Given the description of an element on the screen output the (x, y) to click on. 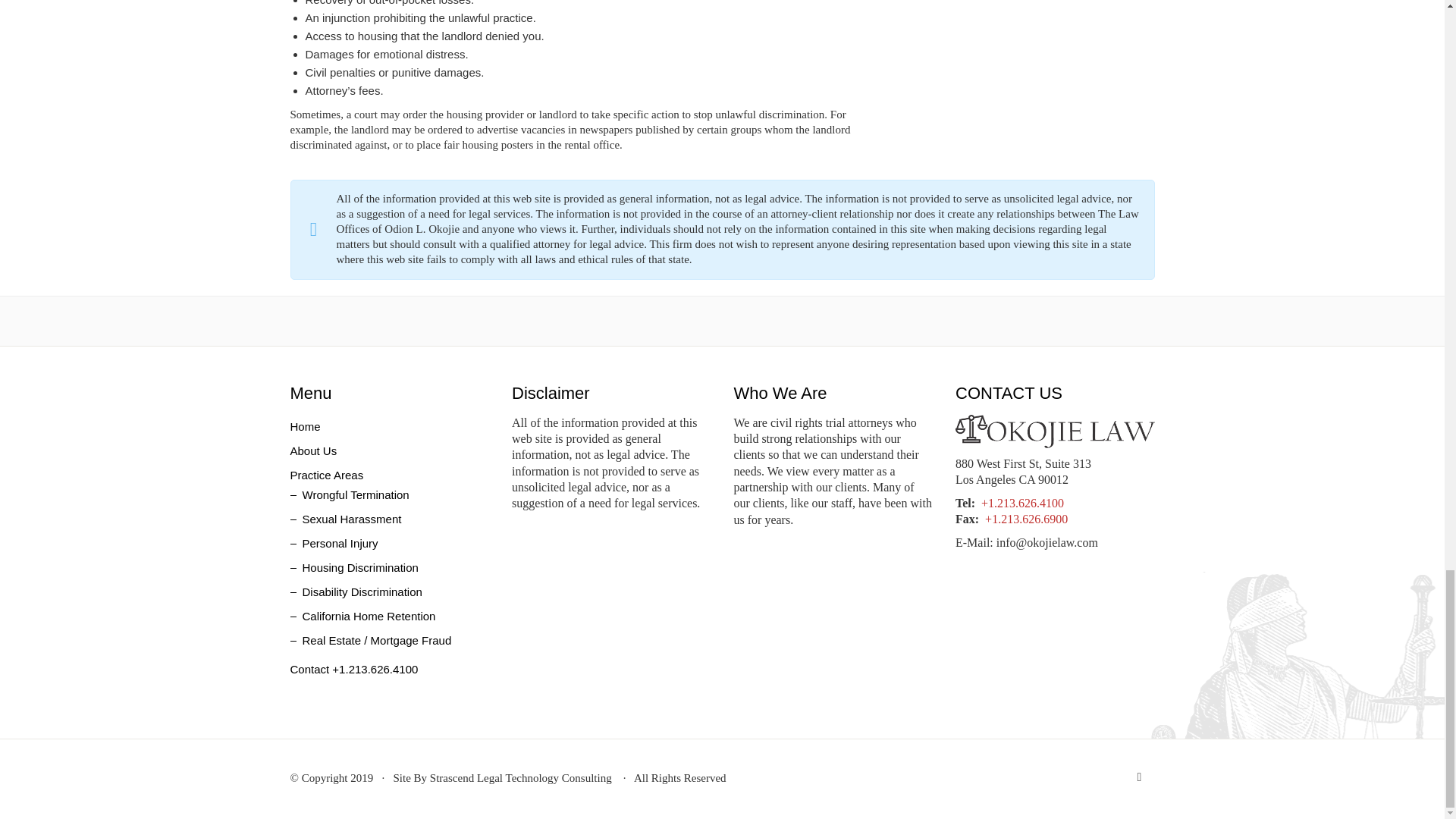
California Home Retention (362, 616)
About Us (312, 450)
Email (1139, 777)
Sexual Harassment (345, 519)
Disability Discrimination (355, 591)
Housing Discrimination (353, 567)
Home (304, 426)
Personal Injury (333, 543)
Wrongful Termination (349, 494)
Practice Areas (325, 475)
